Given the description of an element on the screen output the (x, y) to click on. 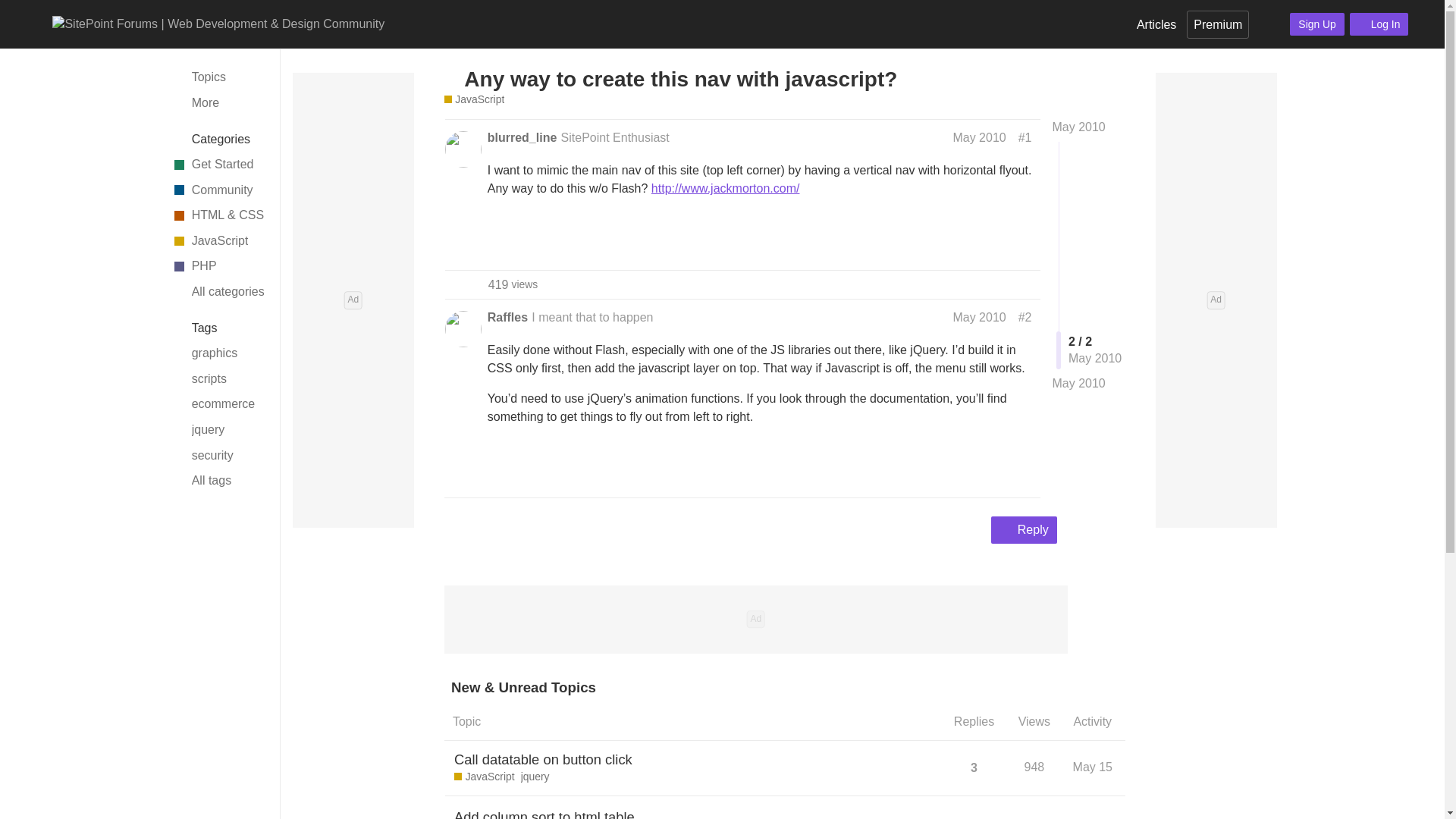
ecommerce (217, 404)
jquery (217, 429)
All tags (217, 481)
JavaScript (217, 240)
Toggle section (217, 328)
Reply (1024, 529)
Call datatable on button click (542, 759)
Sidebar (16, 23)
Any way to create this nav with javascript? (680, 78)
